Given the description of an element on the screen output the (x, y) to click on. 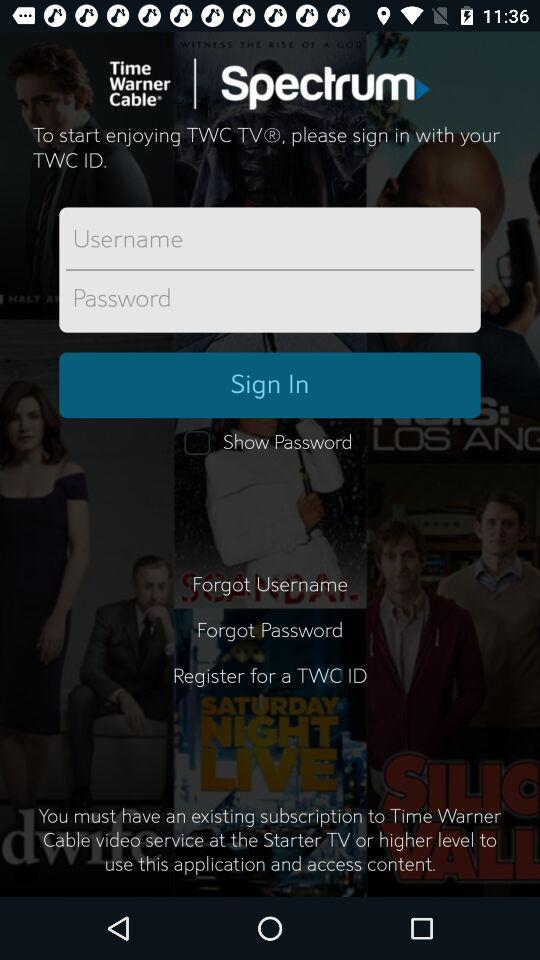
scroll to forgot password (270, 630)
